Given the description of an element on the screen output the (x, y) to click on. 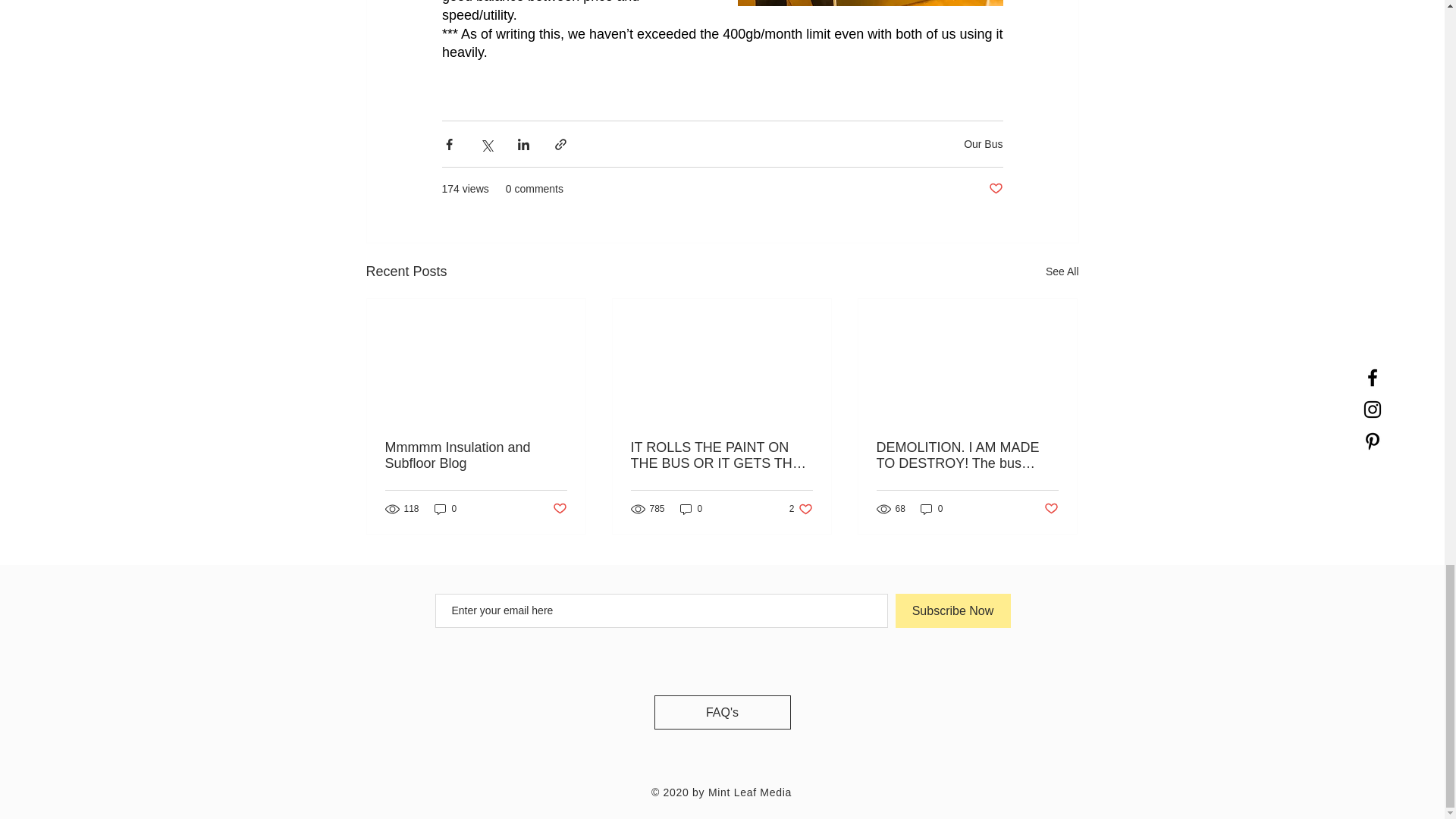
Mmmmm Insulation and Subfloor Blog (476, 455)
Our Bus (983, 143)
Post not marked as liked (1050, 508)
Post not marked as liked (995, 188)
0 (445, 509)
0 (931, 509)
0 (800, 509)
IT ROLLS THE PAINT ON THE BUS OR IT GETS THE HOSE AGAIN (691, 509)
See All (721, 455)
Post not marked as liked (1061, 271)
